Given the description of an element on the screen output the (x, y) to click on. 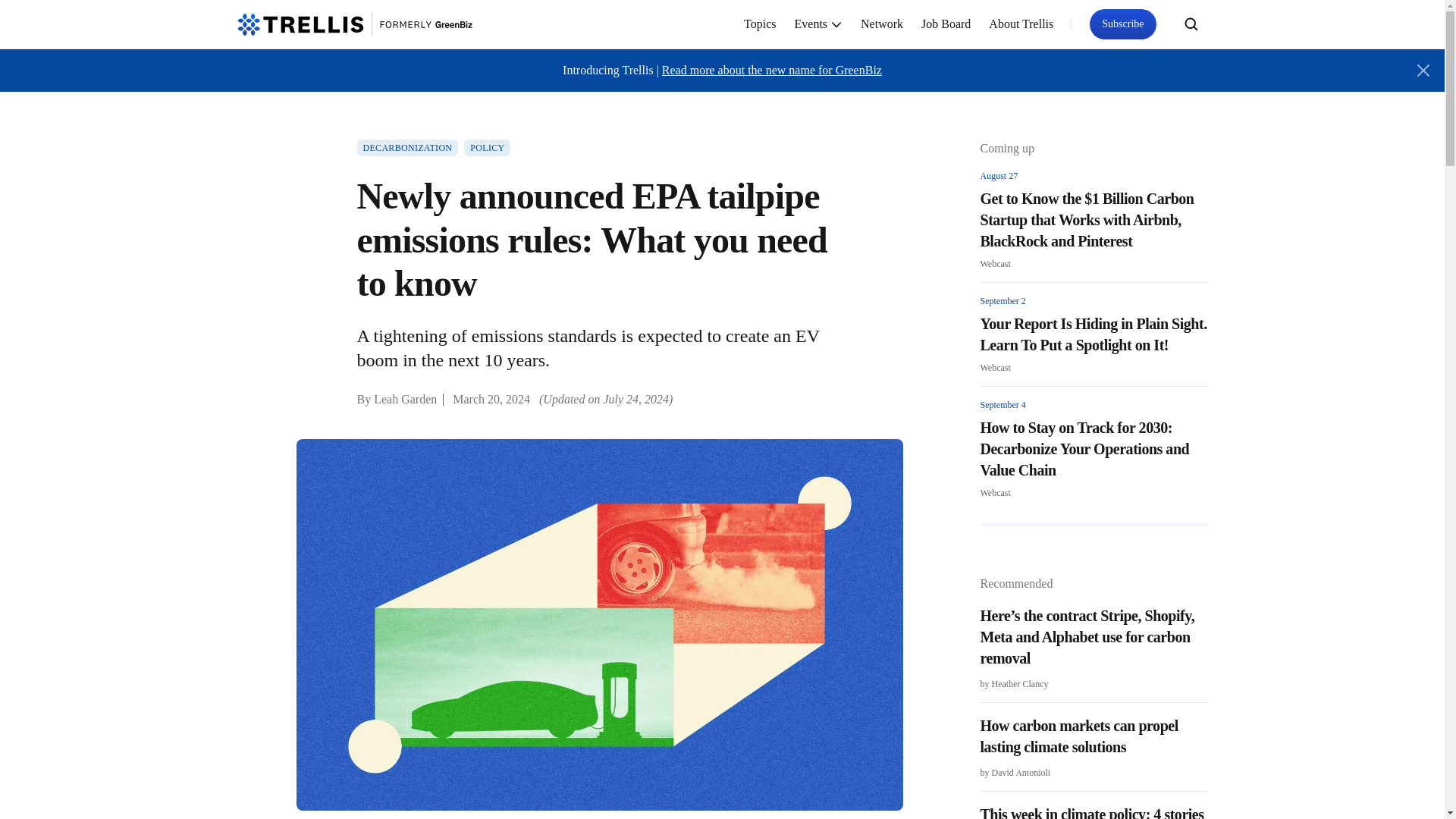
DECARBONIZATION (407, 147)
Topics (759, 24)
About Trellis (1020, 24)
Read more about the new name for GreenBiz (772, 70)
Network (881, 24)
Job Board (945, 24)
POLICY (487, 147)
Events (818, 24)
Subscribe (1122, 24)
Leah Garden (405, 399)
